Given the description of an element on the screen output the (x, y) to click on. 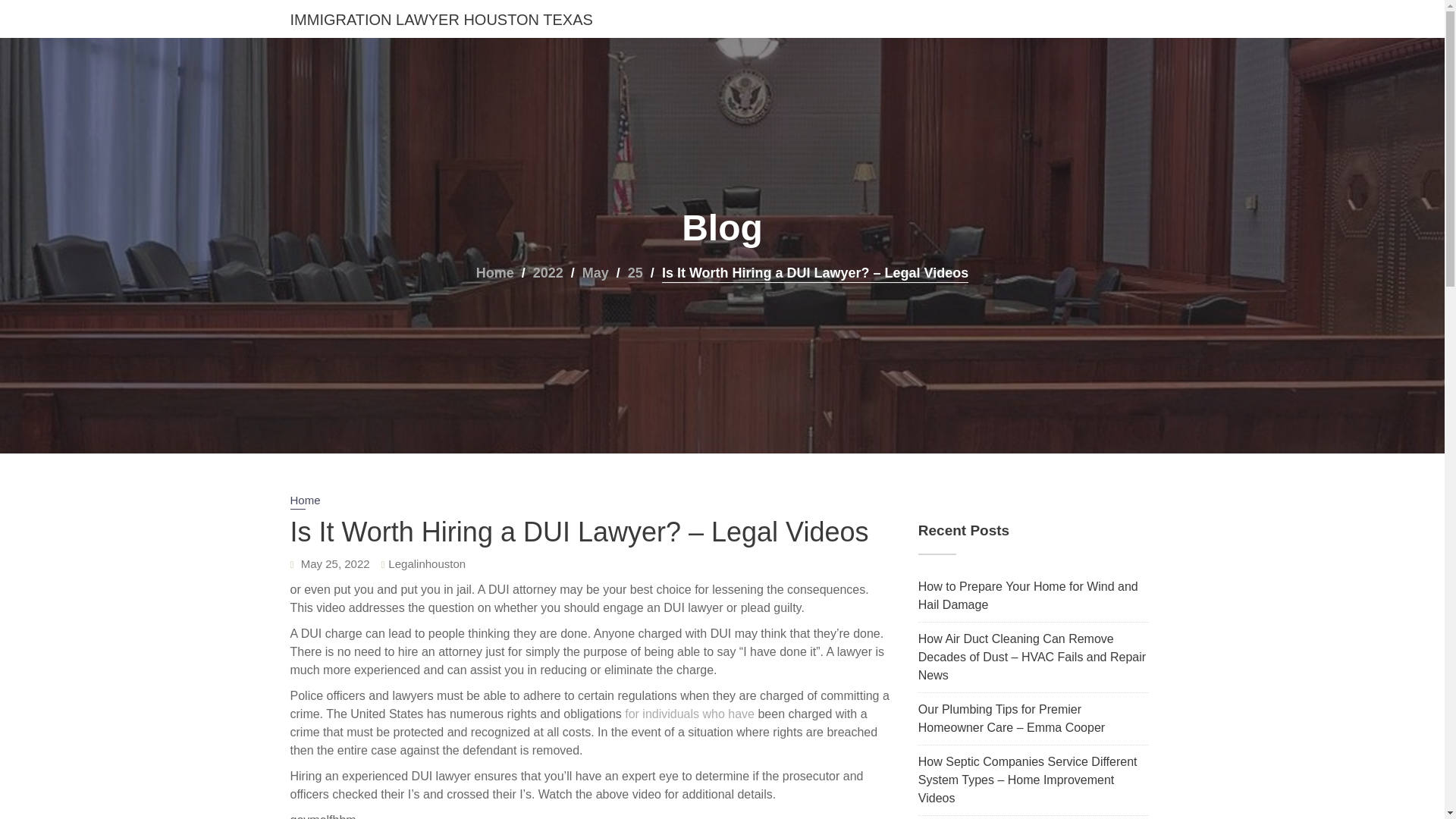
Home (494, 272)
for individuals who have (689, 713)
Home (304, 501)
Legalinhouston (426, 563)
2022 (547, 272)
IMMIGRATION LAWYER HOUSTON TEXAS (440, 19)
May 25, 2022 (335, 563)
May (595, 272)
How to Prepare Your Home for Wind and Hail Damage (1028, 594)
Immigration Lawyer Houston Texas (440, 19)
